Given the description of an element on the screen output the (x, y) to click on. 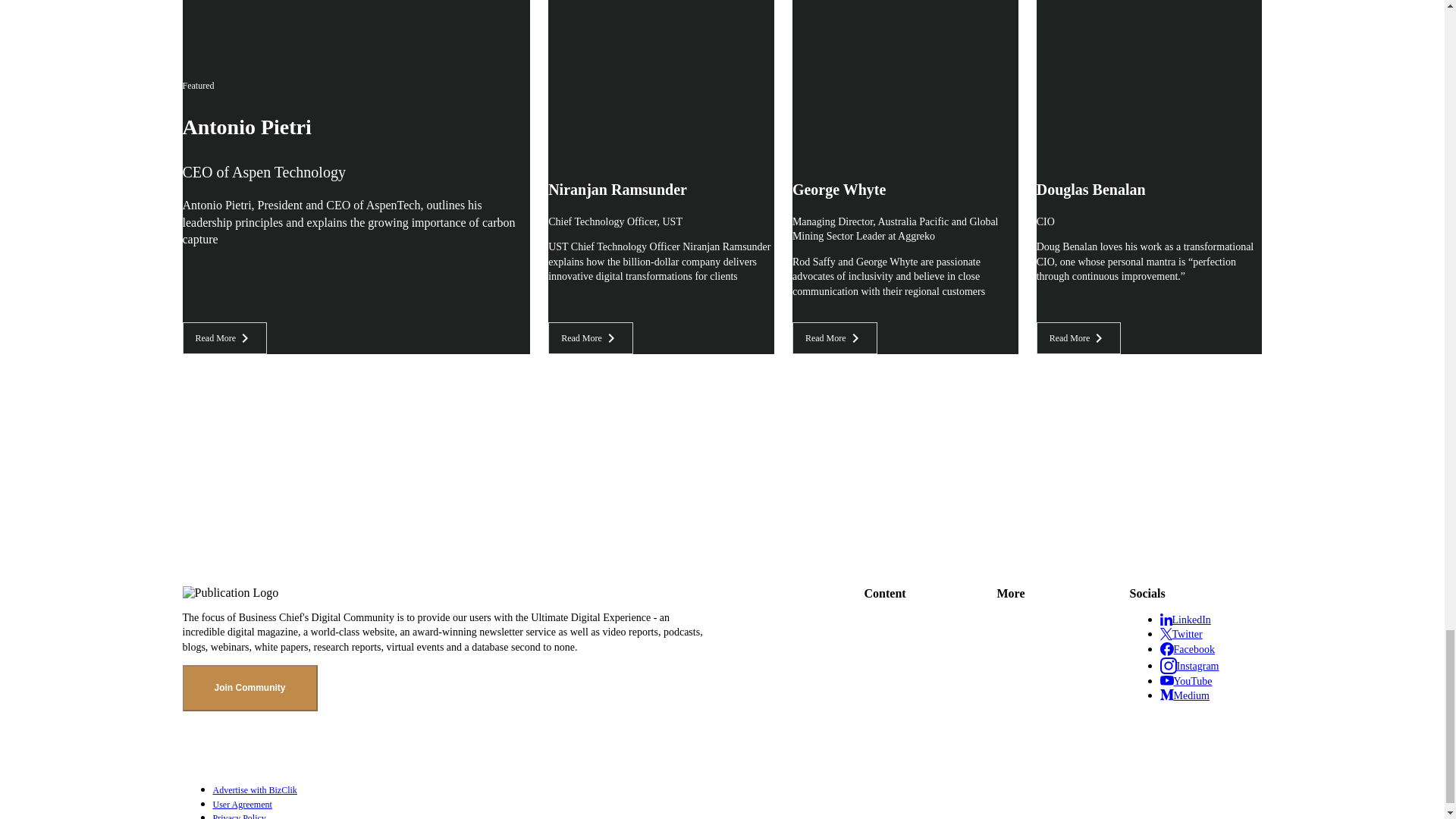
Facebook (1187, 648)
Advertise with BizClik (737, 789)
User Agreement (737, 803)
Twitter (1181, 633)
Medium (1184, 694)
LinkedIn (1185, 618)
Instagram (1190, 665)
YouTube (1186, 680)
Join Community (249, 688)
